Given the description of an element on the screen output the (x, y) to click on. 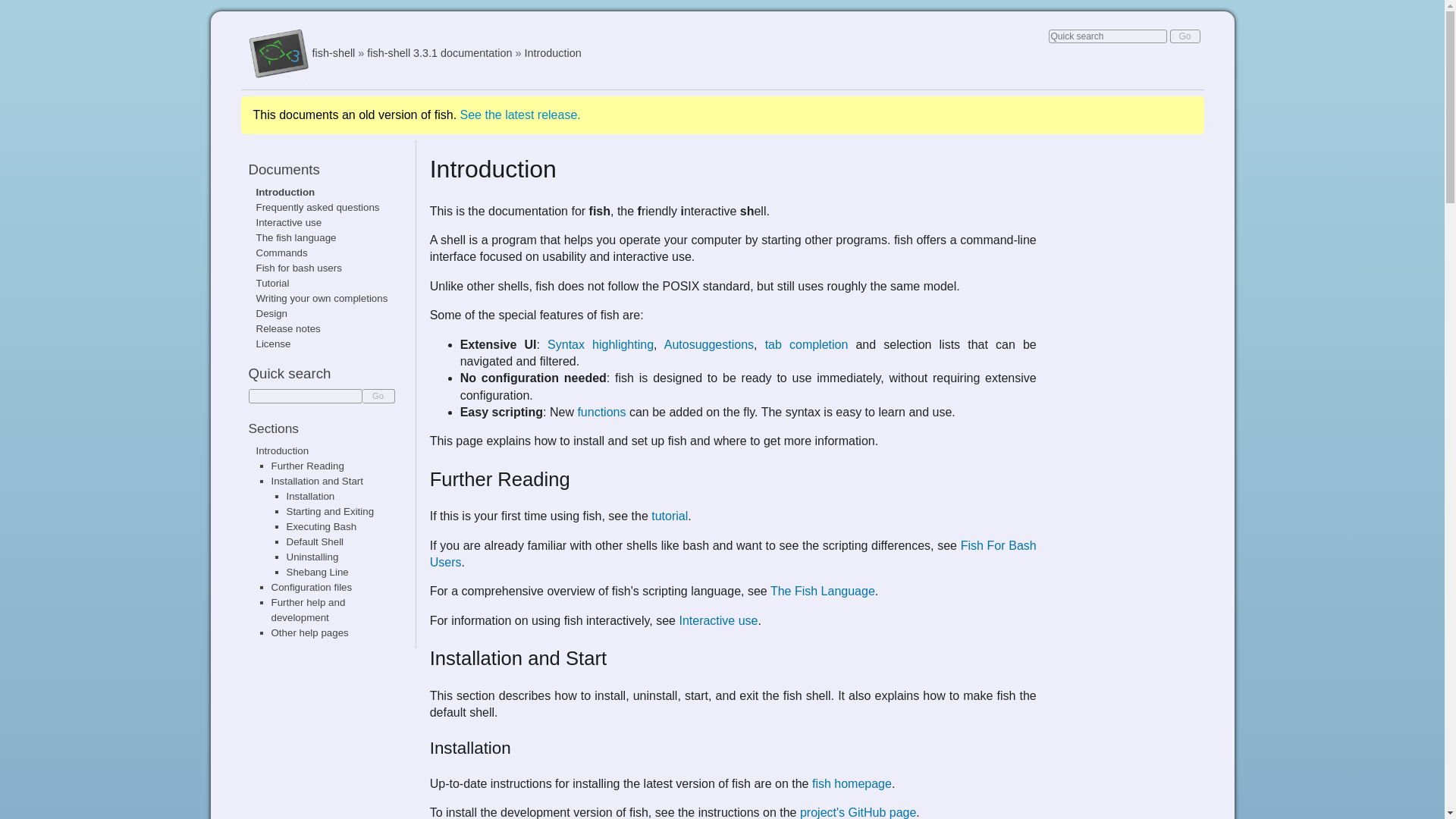
fish-shell (334, 52)
Sections (273, 427)
Go (1184, 36)
Starting and Exiting (330, 511)
Further help and development (308, 610)
Shebang Line (317, 572)
Release notes (288, 328)
Frequently asked questions (318, 206)
Go (1184, 36)
tab completion (806, 344)
Introduction (285, 192)
Installation (310, 496)
Writing your own completions (322, 297)
The fish language (296, 237)
Configuration files (311, 586)
